Given the description of an element on the screen output the (x, y) to click on. 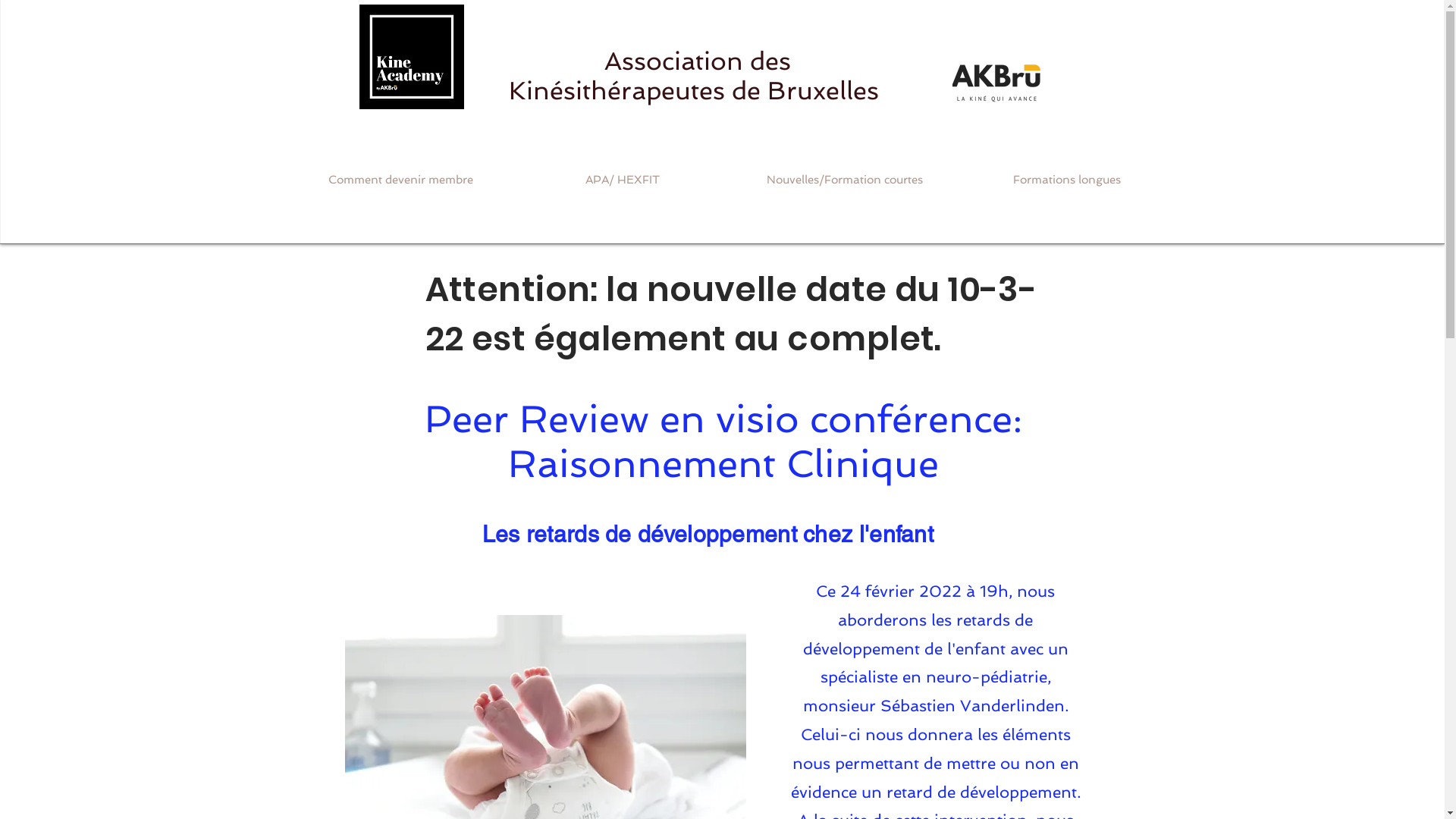
APA/ HEXFIT Element type: text (622, 179)
Nouvelles/Formation courtes Element type: text (845, 179)
Formations longues Element type: text (1065, 179)
Comment devenir membre Element type: text (400, 179)
